Given the description of an element on the screen output the (x, y) to click on. 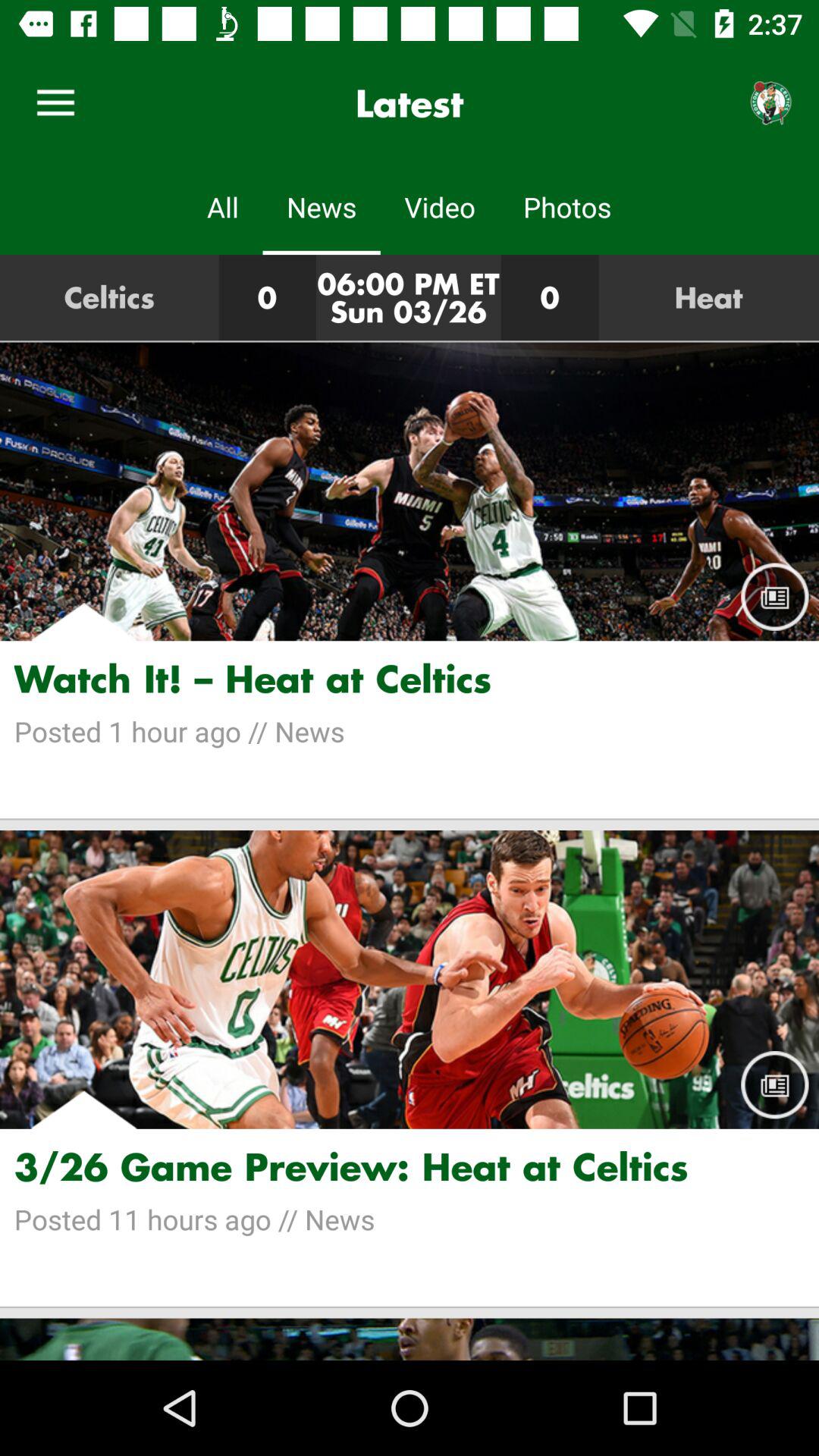
press the watch it heat (409, 678)
